Given the description of an element on the screen output the (x, y) to click on. 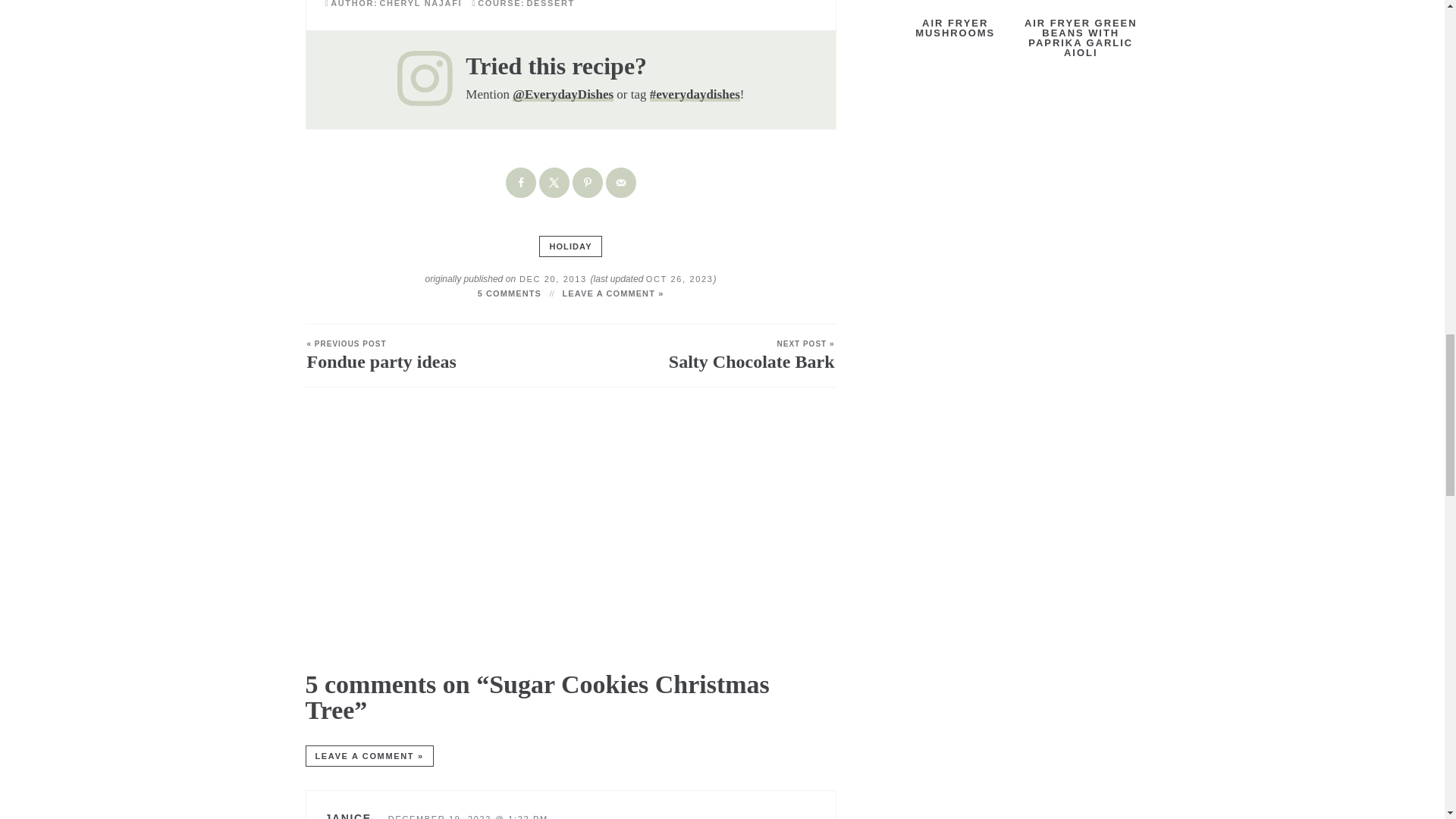
Air Fryer Green Beans with Paprika Garlic Aioli (1080, 28)
Save to Pinterest (587, 182)
Send over email (619, 182)
Air Fryer Mushrooms (954, 18)
Share on X (553, 182)
Share on Facebook (520, 182)
